Given the description of an element on the screen output the (x, y) to click on. 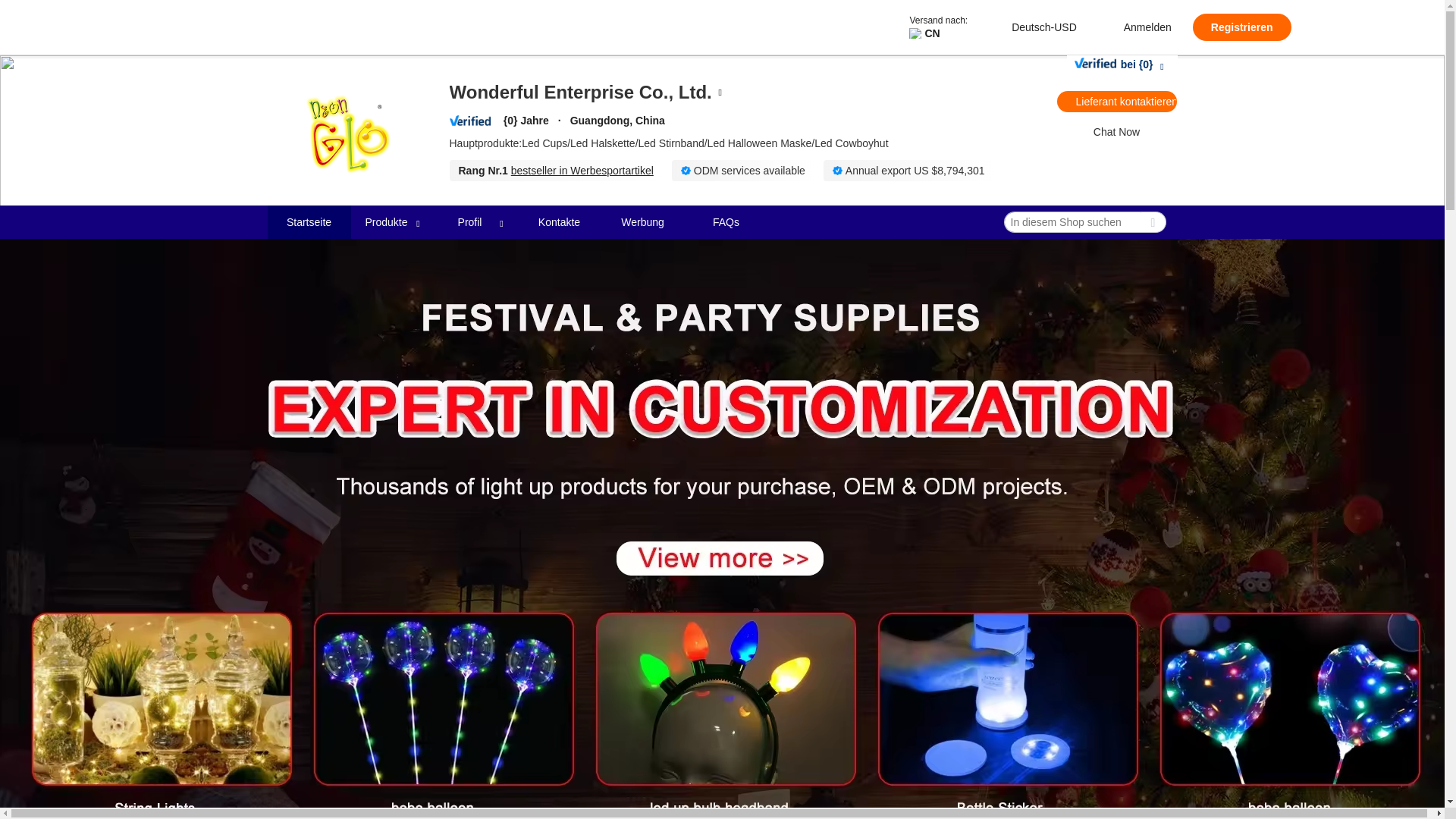
Profil (470, 222)
Lieferant kontaktieren (1116, 101)
FAQs (725, 222)
Startseite (309, 222)
Produkte (386, 222)
Chat Now (1116, 131)
Startseite (308, 222)
Kontakte (557, 222)
FAQs (726, 222)
Lieferant kontaktieren (1116, 101)
Werbung (642, 222)
Kontakte (559, 222)
Profil (474, 222)
Produkte (391, 222)
Werbung (641, 222)
